Given the description of an element on the screen output the (x, y) to click on. 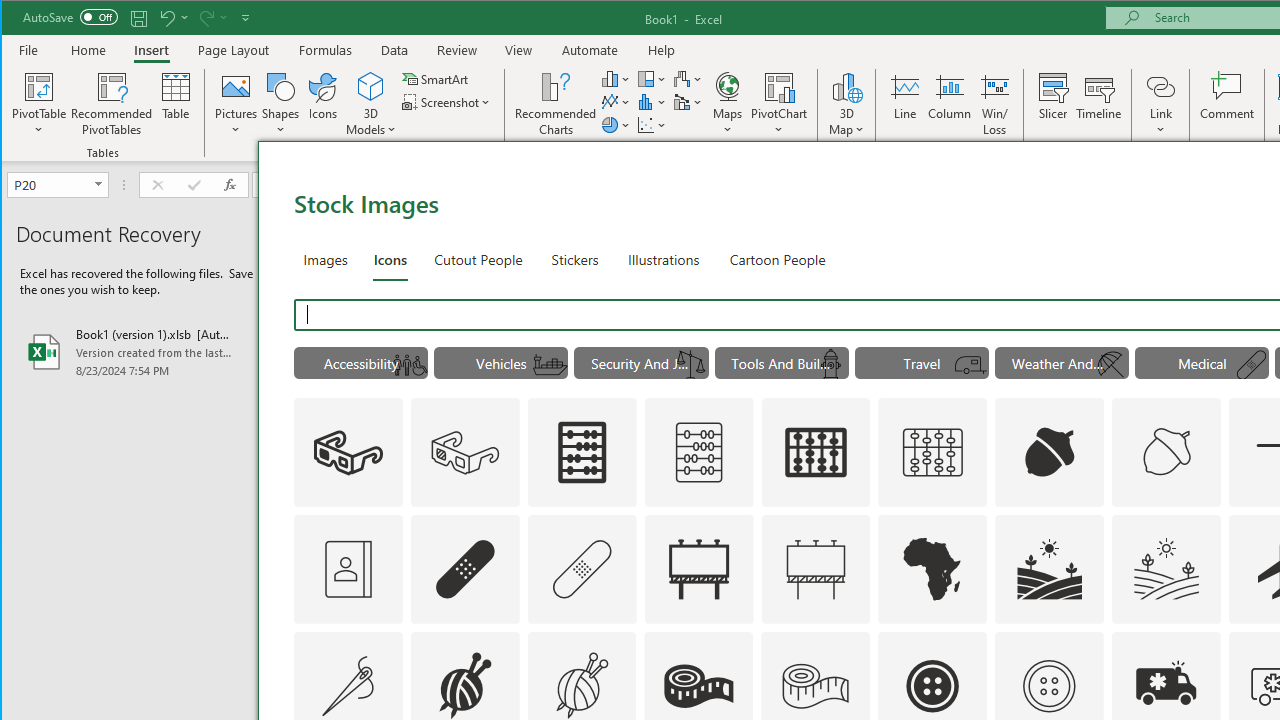
AutomationID: Icons_3dGlasses (348, 452)
AutomationID: Icons_Abacus (582, 452)
AutomationID: Icons_Abacus1 (815, 452)
"Weather And Seasons" Icons. (1061, 362)
AutomationID: Icons_BeachUmbrella_M (1110, 365)
Shapes (280, 104)
Win/Loss (995, 104)
Table (175, 104)
Insert Combo Chart (688, 101)
AutomationID: Icons_Advertising_M (815, 568)
Stickers (575, 258)
Cutout People (478, 258)
"Tools And Building" Icons. (781, 362)
